Given the description of an element on the screen output the (x, y) to click on. 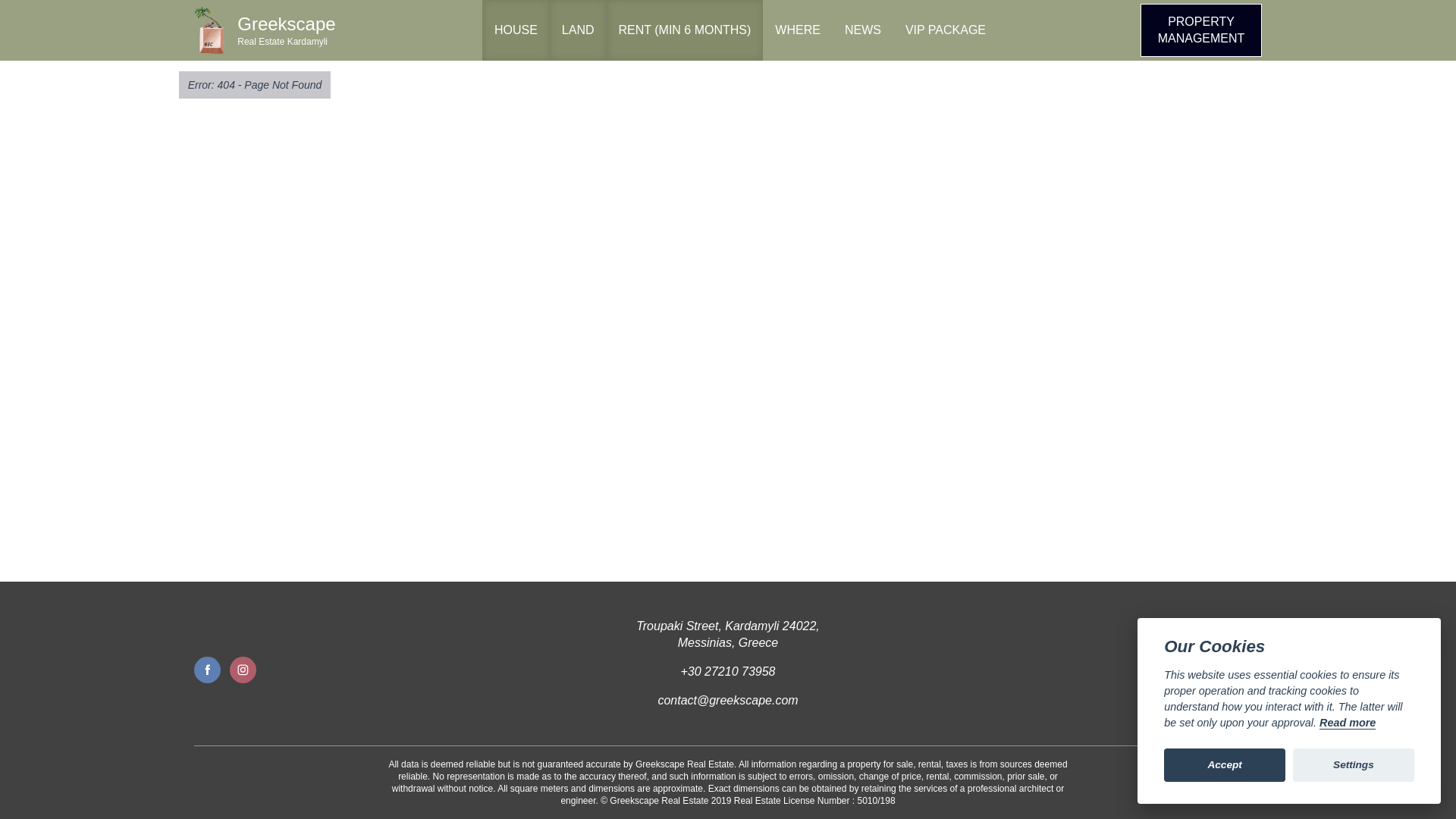
NEWS (862, 30)
Accept (1224, 765)
Read more (1347, 722)
HOUSE (515, 30)
Settings (1352, 765)
VIP PACKAGE (945, 30)
WHERE (797, 30)
LAND (578, 30)
PROPERTY MANAGEMENT (266, 29)
